Given the description of an element on the screen output the (x, y) to click on. 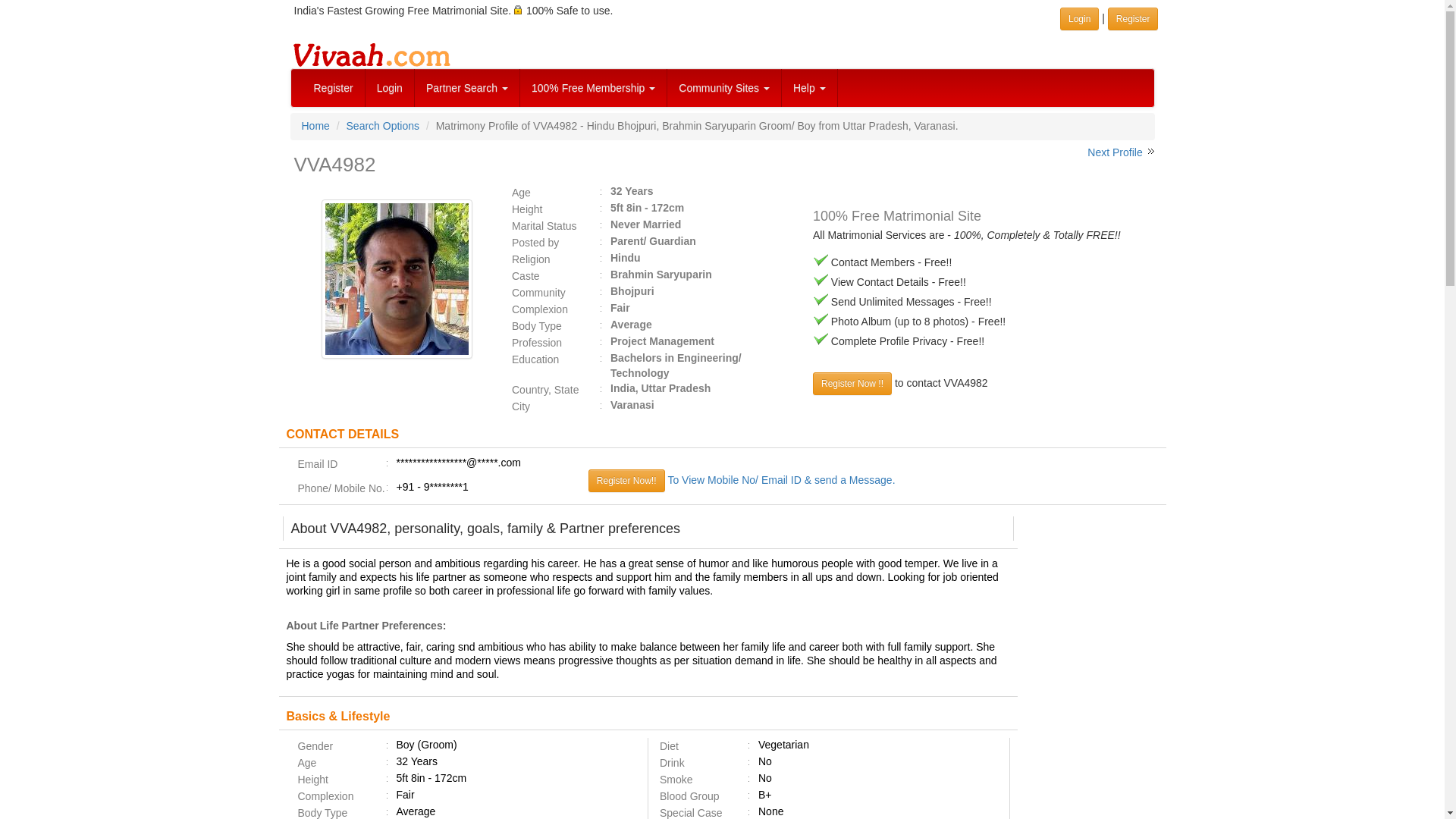
Login (389, 87)
Help (809, 87)
Partner Search (466, 87)
Login (1079, 18)
Community Sites (723, 87)
Register (333, 87)
Membership Plans (592, 87)
Home (315, 125)
Register (1133, 18)
Community Sites (723, 87)
